Given the description of an element on the screen output the (x, y) to click on. 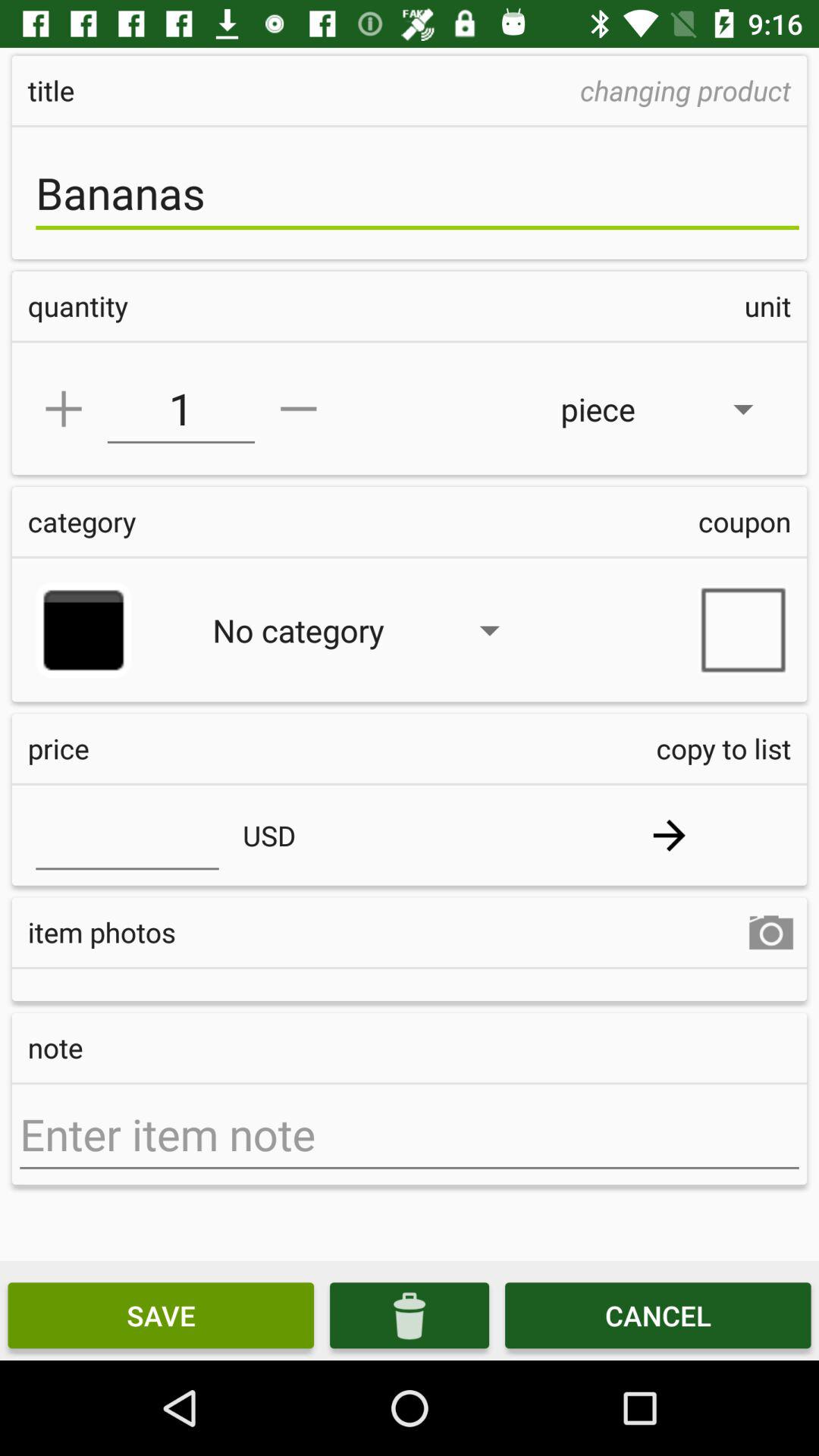
turn on item at the bottom right corner (658, 1315)
